Given the description of an element on the screen output the (x, y) to click on. 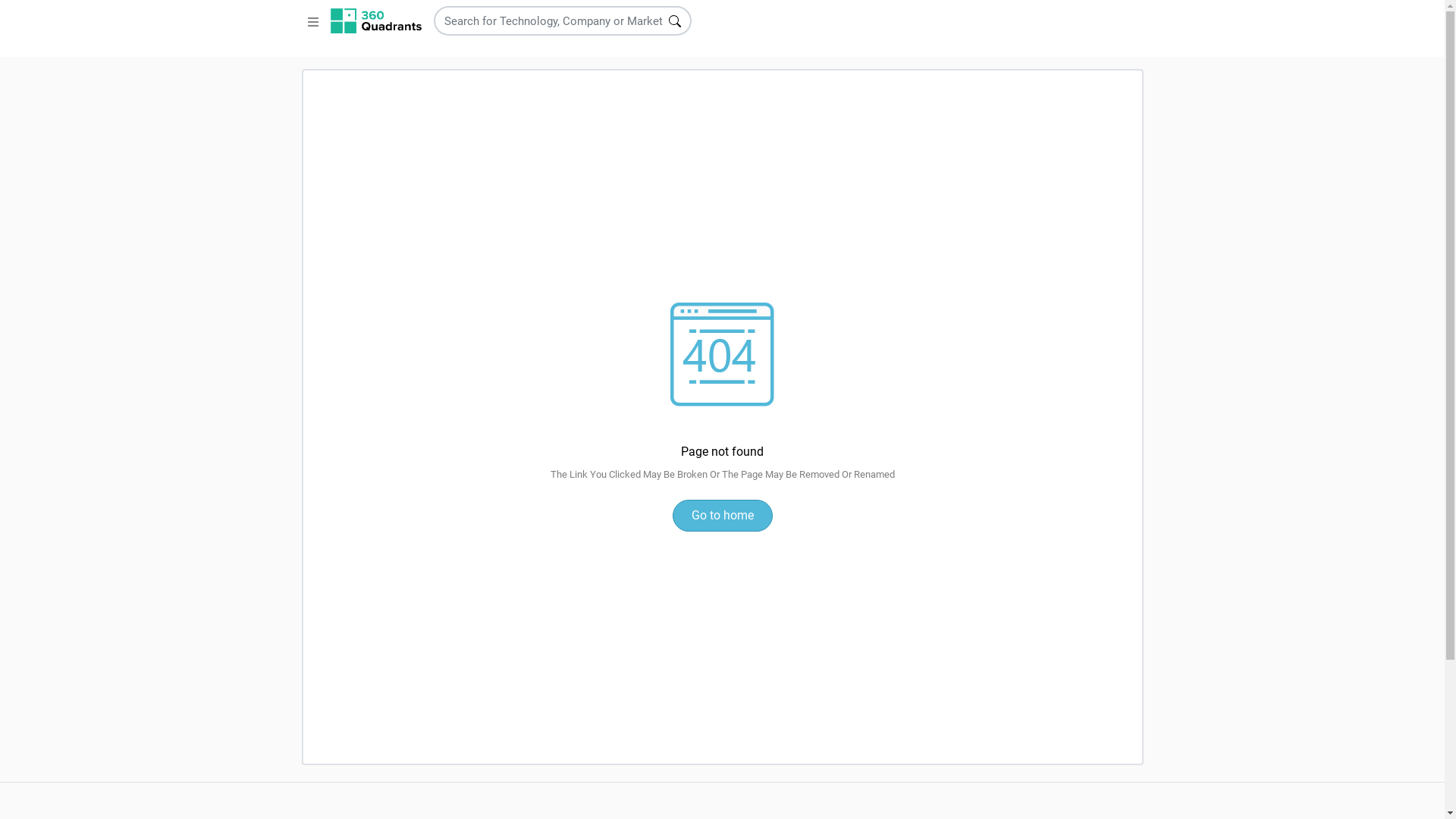
Go to home Element type: text (721, 515)
